Given the description of an element on the screen output the (x, y) to click on. 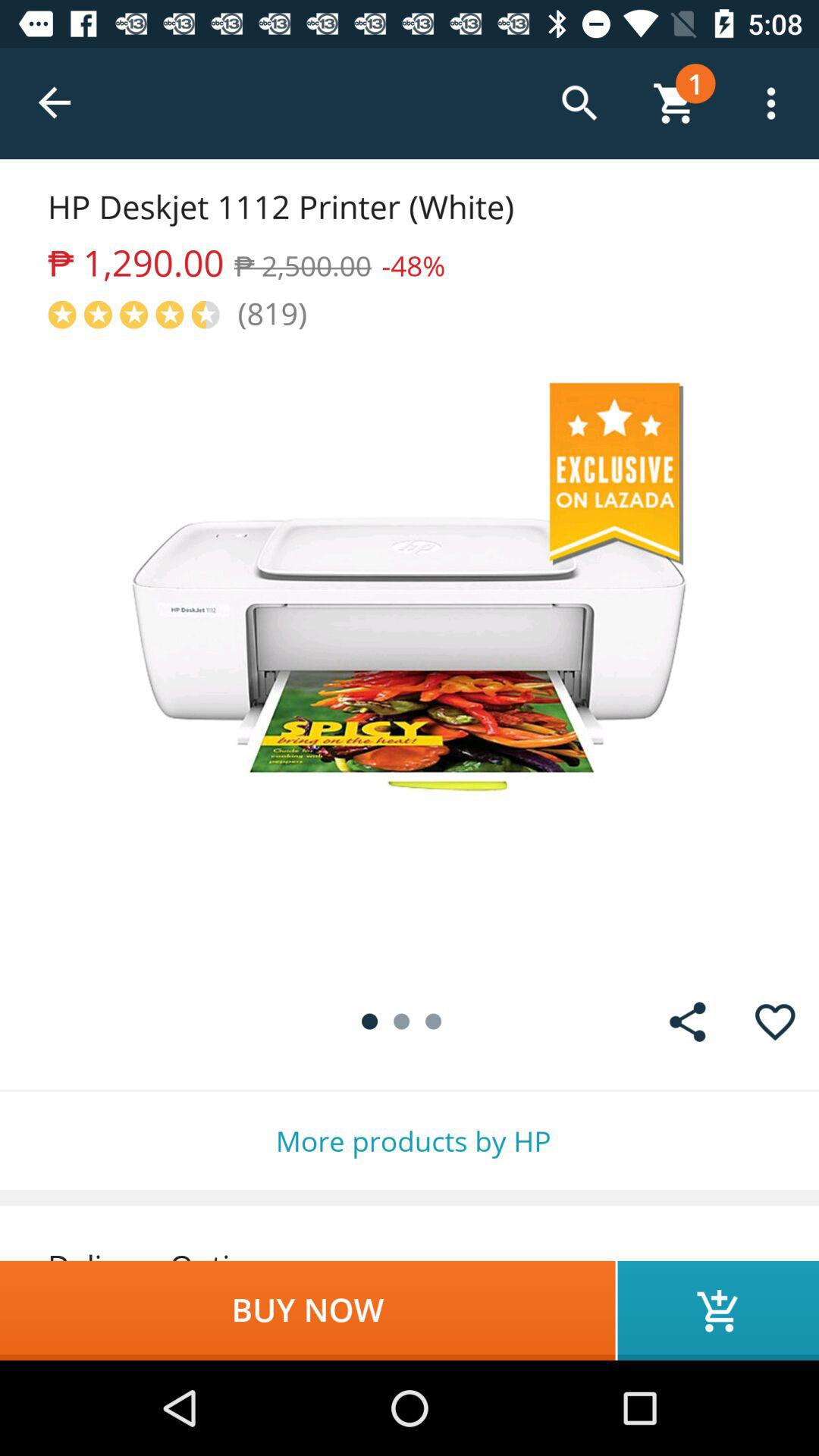
enlarge the picture (409, 655)
